Given the description of an element on the screen output the (x, y) to click on. 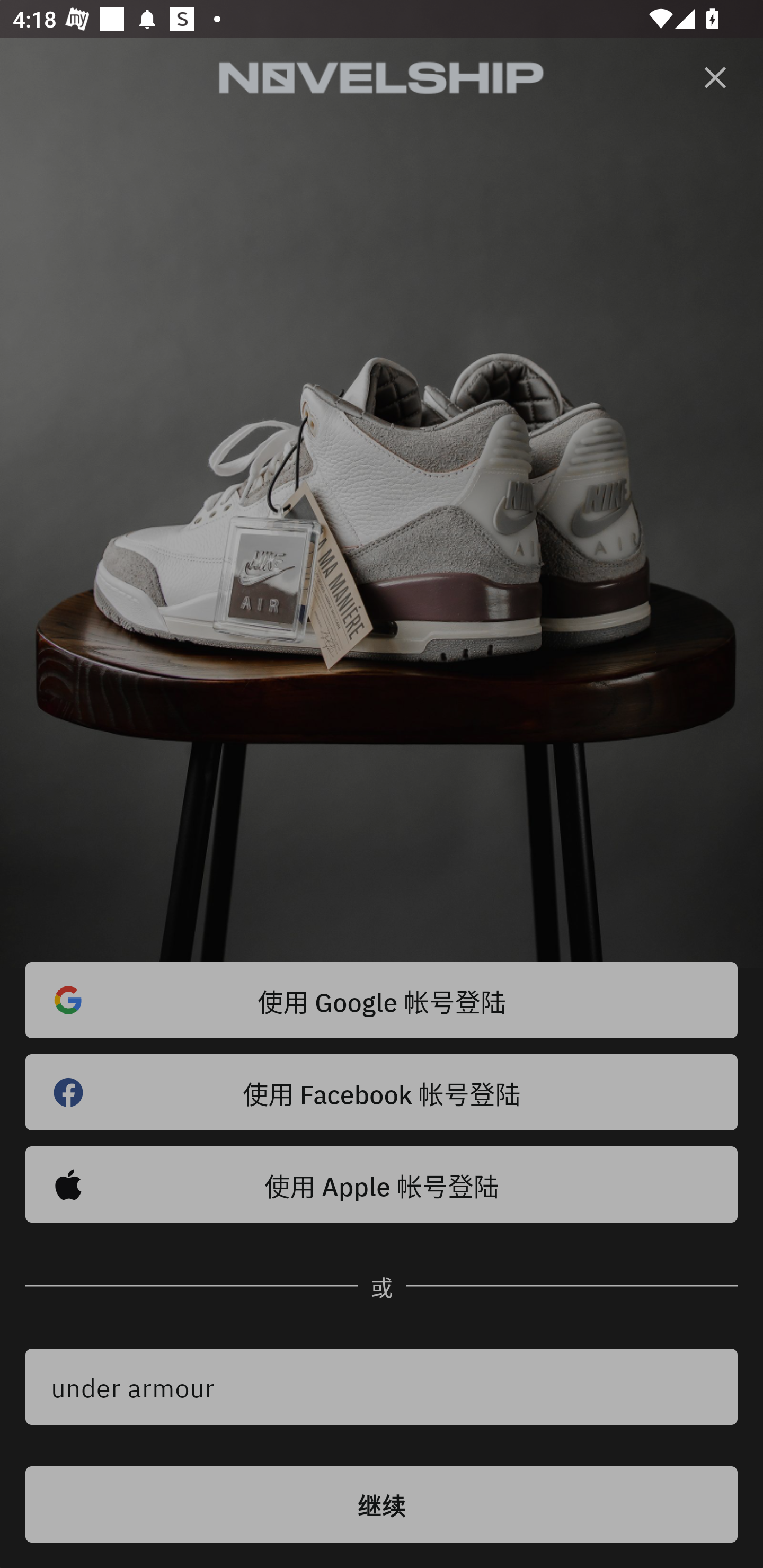
使用 Google 帐号登陆 (381, 1000)
使用 Facebook 帐号登陆 󰈌 (381, 1091)
 使用 Apple 帐号登陆 (381, 1184)
under armour (381, 1386)
继续 (381, 1504)
